Given the description of an element on the screen output the (x, y) to click on. 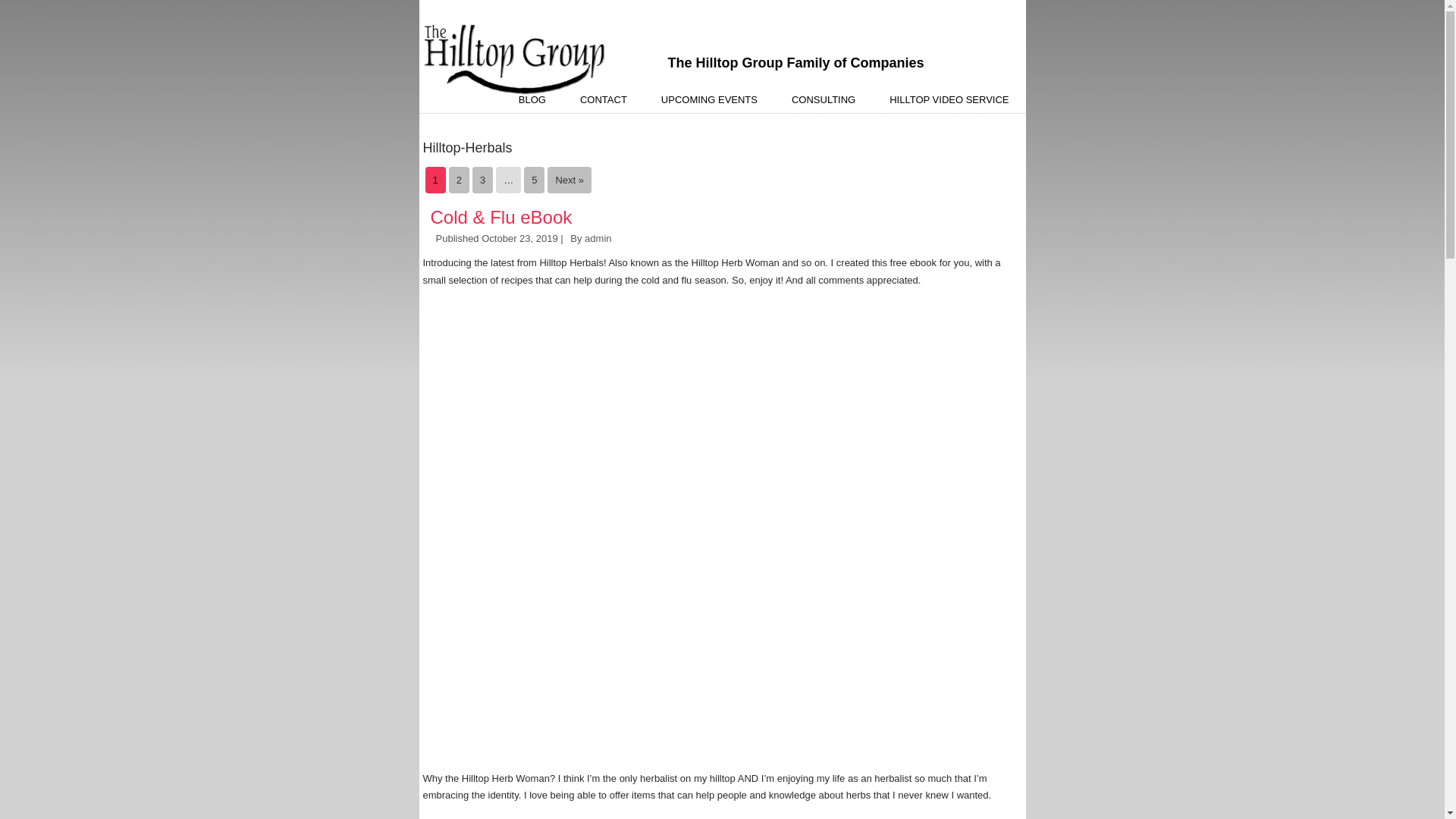
1:34 am (519, 238)
UPCOMING EVENTS (708, 99)
BLOG (532, 99)
CONSULTING (822, 99)
CONTACT (603, 99)
View all posts by admin (598, 238)
